Given the description of an element on the screen output the (x, y) to click on. 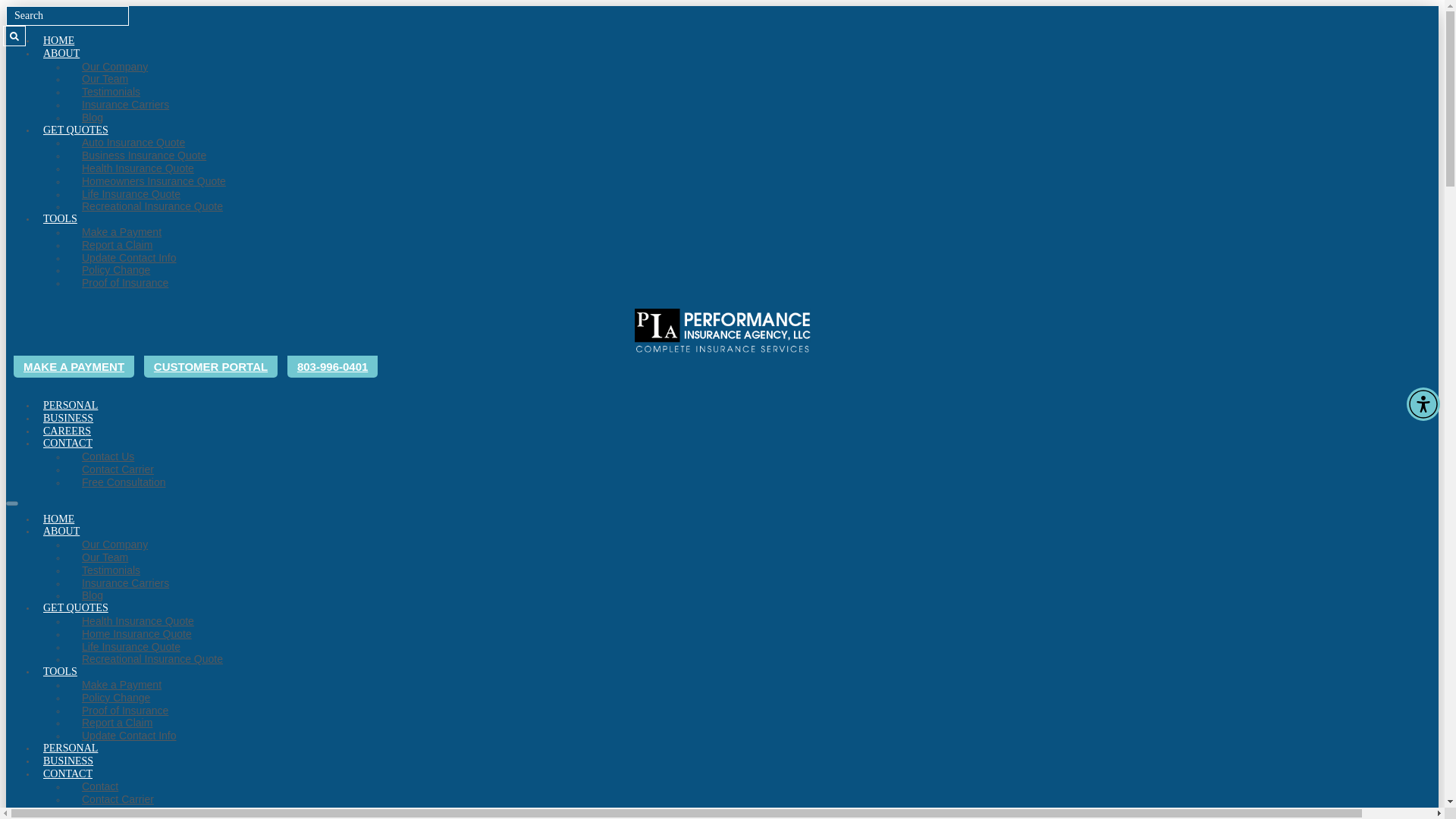
Our Company (114, 66)
Insurance Carriers (125, 583)
Report a Claim (116, 244)
TOOLS (60, 218)
Get Quotes (75, 130)
Health Insurance Quote (137, 167)
Testimonials (110, 569)
Our Team (104, 78)
803-996-0401 (331, 366)
MAKE A PAYMENT (73, 366)
Insurance Carriers (125, 103)
Our Team (104, 556)
BUSINESS (68, 418)
HOME (58, 519)
PERSONAL (70, 405)
